Given the description of an element on the screen output the (x, y) to click on. 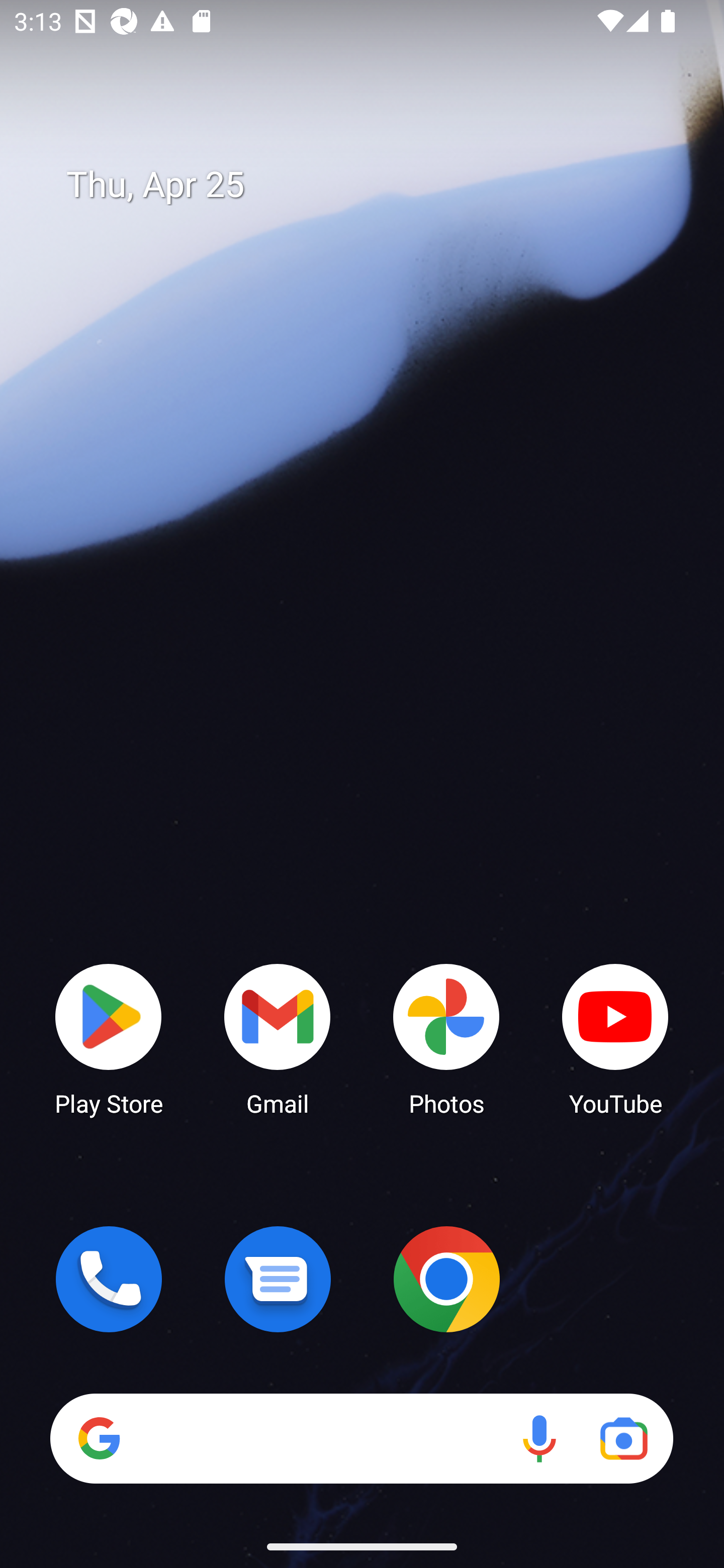
Thu, Apr 25 (375, 184)
Play Store (108, 1038)
Gmail (277, 1038)
Photos (445, 1038)
YouTube (615, 1038)
Phone (108, 1279)
Messages (277, 1279)
Chrome (446, 1279)
Search Voice search Google Lens (361, 1438)
Voice search (539, 1438)
Google Lens (623, 1438)
